Given the description of an element on the screen output the (x, y) to click on. 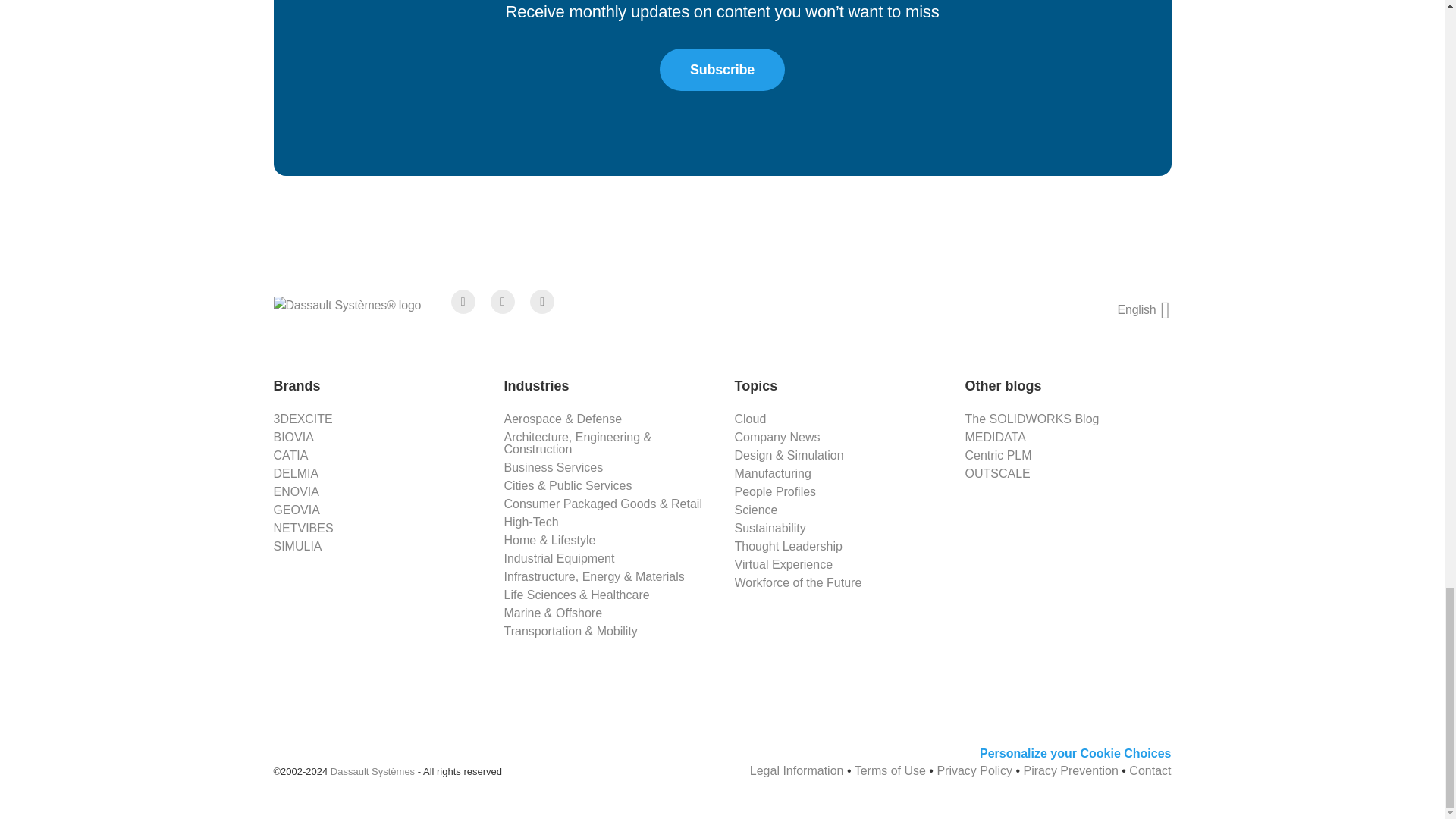
Facebook account (463, 302)
Twitter account (502, 302)
Linkedin account (541, 302)
